Given the description of an element on the screen output the (x, y) to click on. 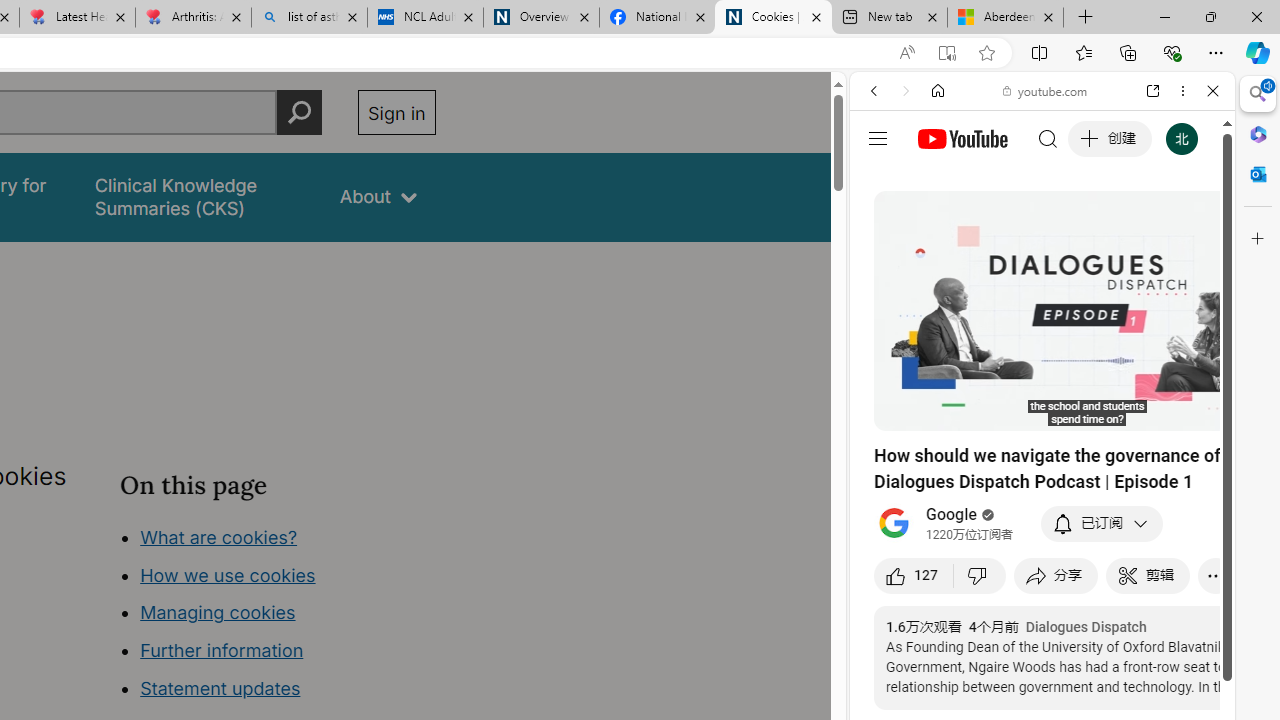
Trailer #2 [HD] (1042, 592)
How we use cookies (227, 574)
Statement updates (219, 688)
Dialogues Dispatch (1085, 627)
Google (1042, 494)
Search videos from youtube.com (1005, 657)
